Given the description of an element on the screen output the (x, y) to click on. 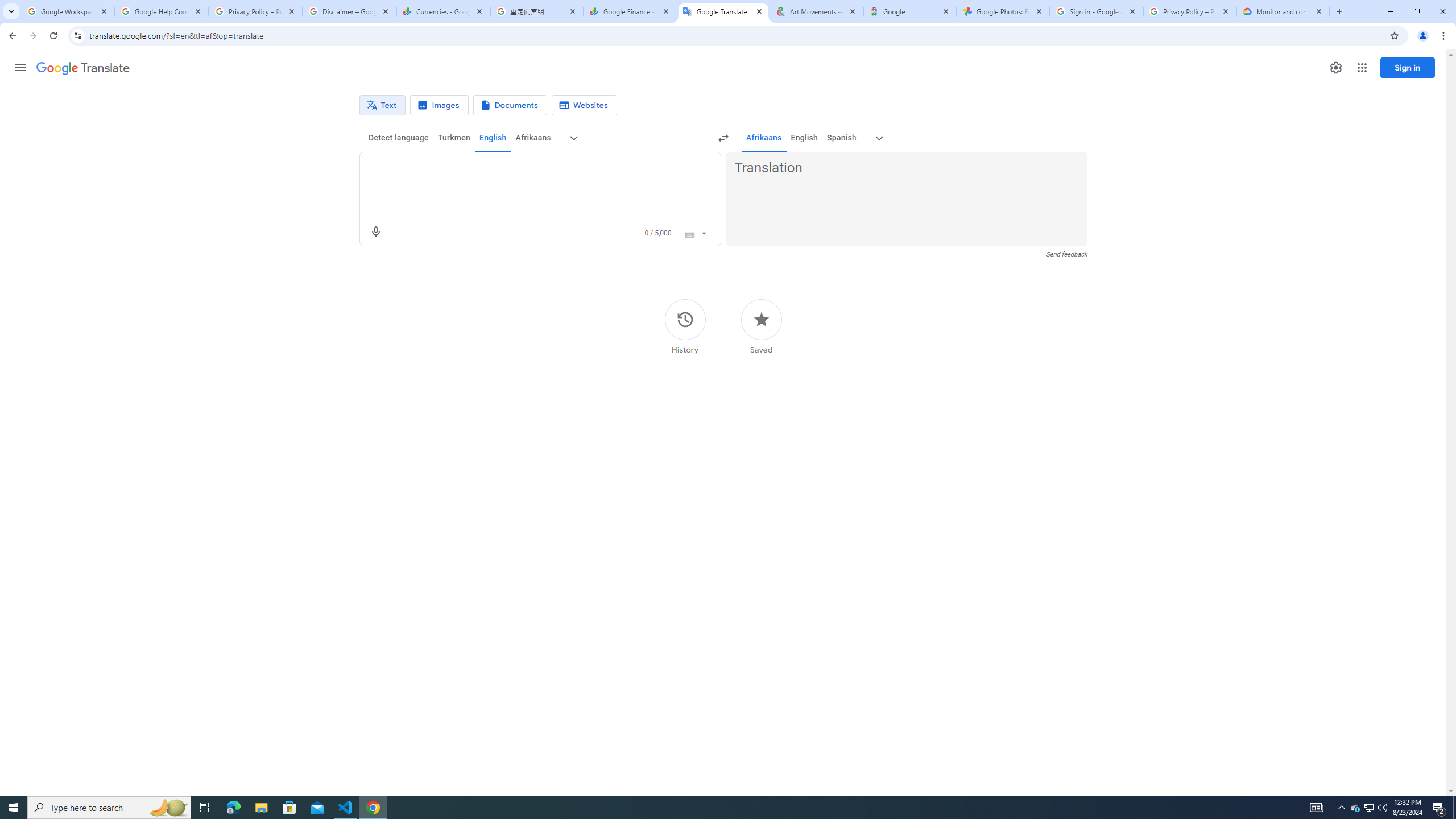
Google Workspace Admin Community (67, 11)
Source text (529, 167)
Spanish (840, 137)
Turkmen (453, 137)
Send feedback (1066, 253)
Show the Input Tools menu (703, 231)
